Given the description of an element on the screen output the (x, y) to click on. 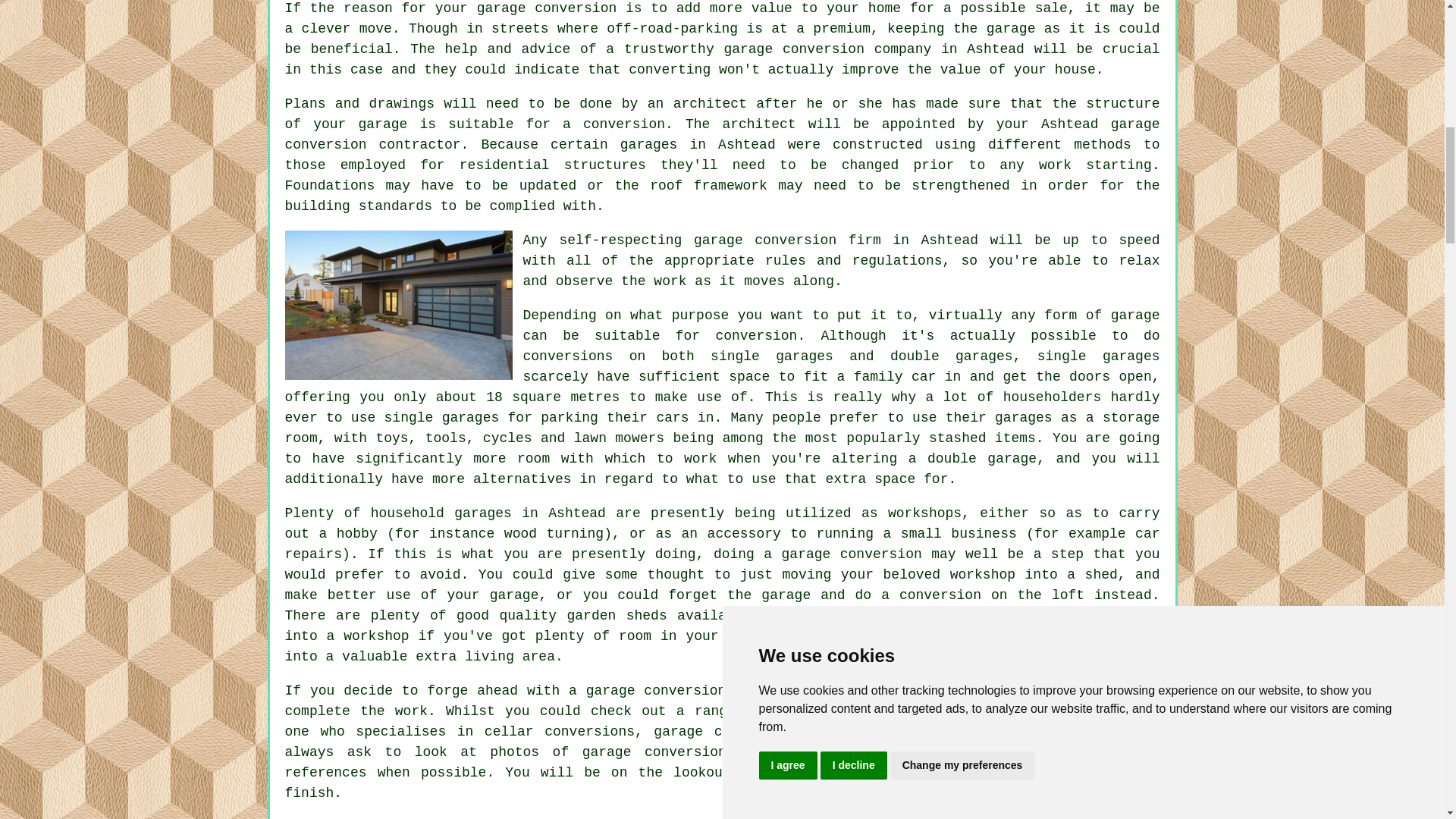
convert your garage (1080, 635)
a double garage (972, 458)
single garages (441, 417)
garage (1135, 314)
